Given the description of an element on the screen output the (x, y) to click on. 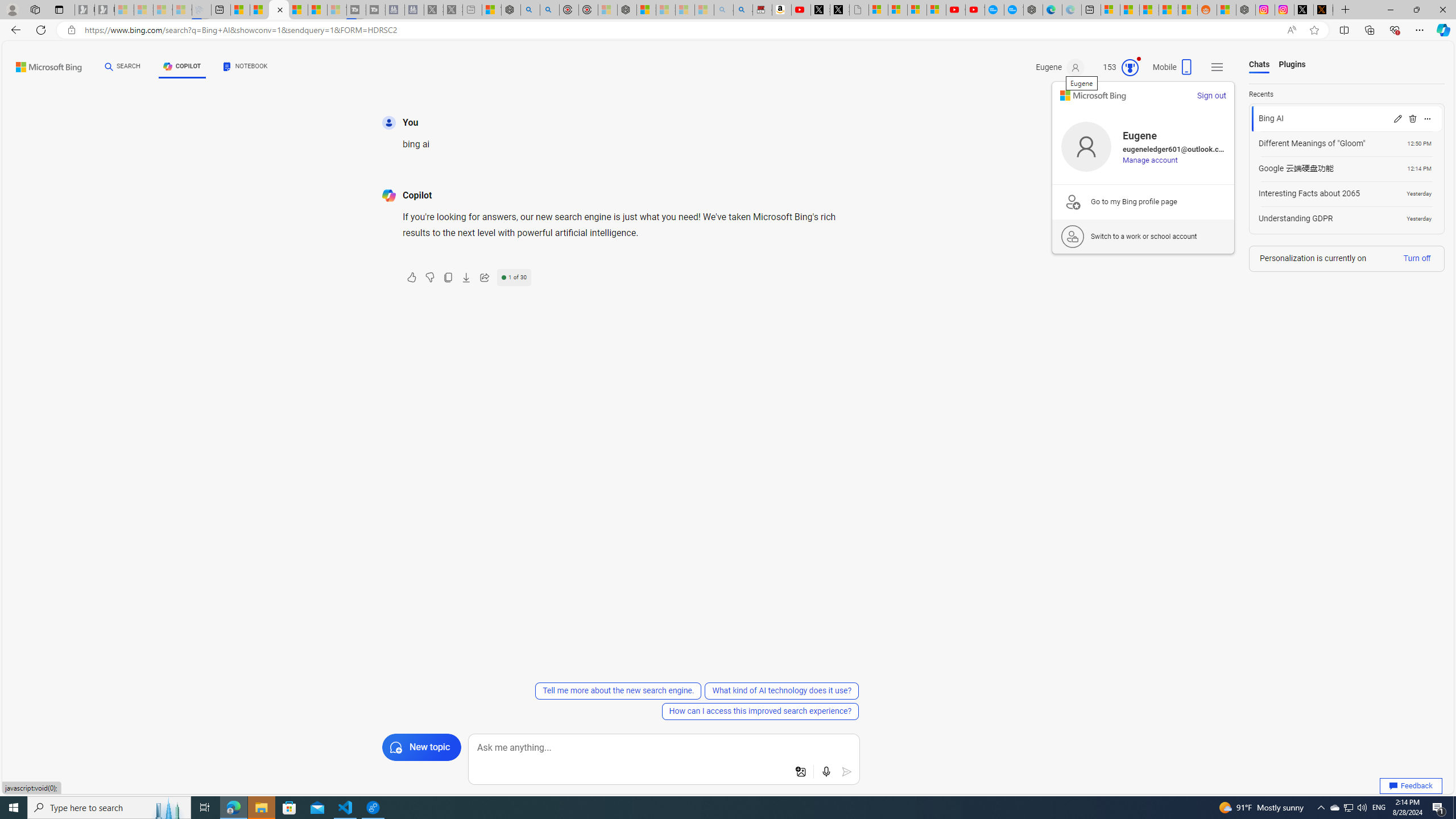
Shanghai, China Weather trends | Microsoft Weather (1187, 9)
Class: medal-circled (1129, 67)
Back to Bing search (41, 64)
Browser essentials (1394, 29)
Like (411, 277)
Settings and quick links (1217, 67)
Ask me anything... (663, 748)
More options (1427, 118)
Split screen (1344, 29)
NOTEBOOK (245, 66)
Nordace - Nordace Siena Is Not An Ordinary Backpack (627, 9)
New tab - Sleeping (471, 9)
Streaming Coverage | T3 - Sleeping (356, 9)
